Given the description of an element on the screen output the (x, y) to click on. 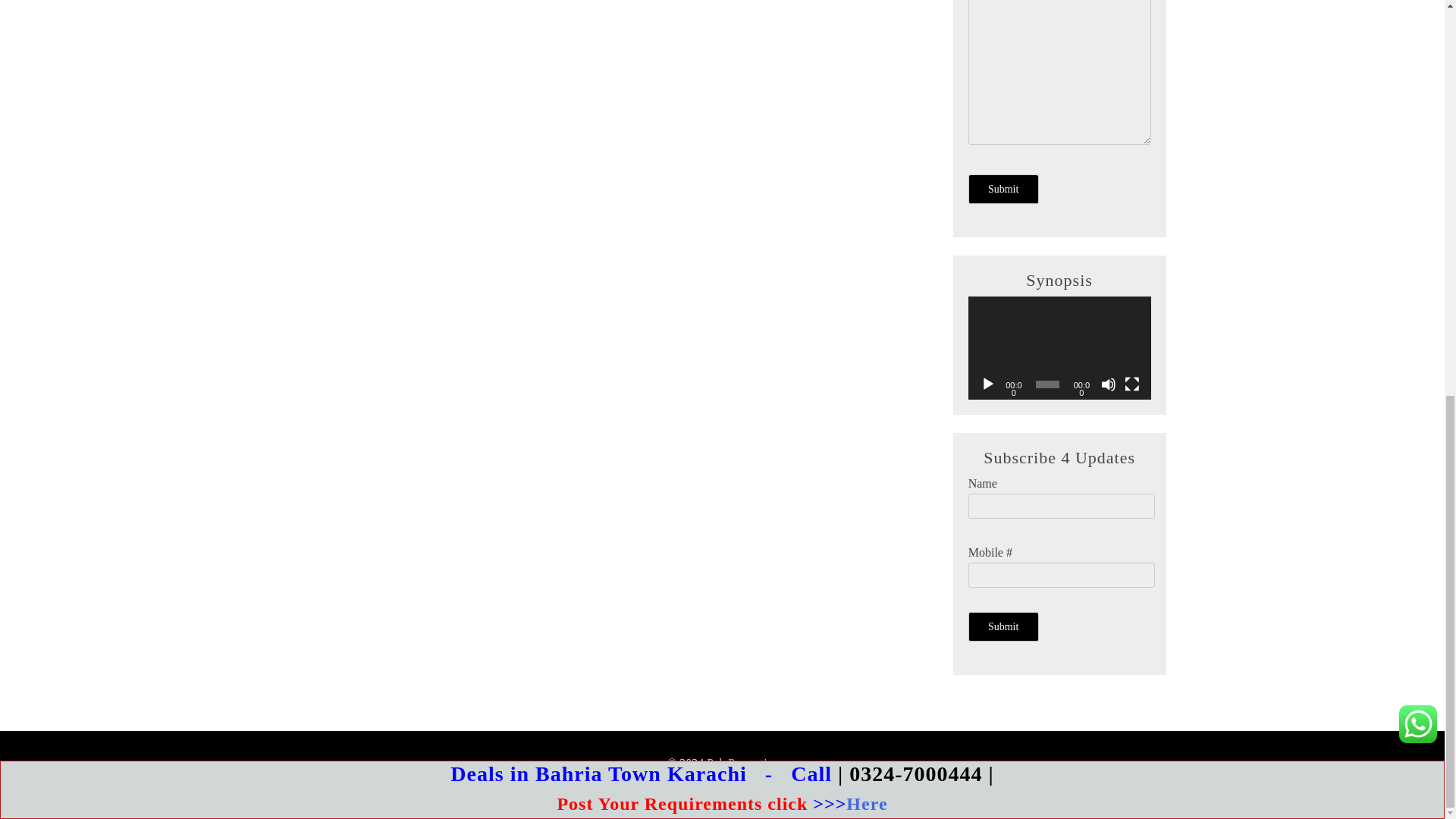
Submit (1003, 188)
Mute (1108, 384)
Submit (1003, 625)
Here (865, 37)
Fullscreen (1132, 384)
Submit (1003, 625)
Proudly powered by WordPress (624, 786)
Submit (1003, 188)
Pak Properties (741, 763)
wpthemespace.com (848, 786)
Play (987, 384)
